Given the description of an element on the screen output the (x, y) to click on. 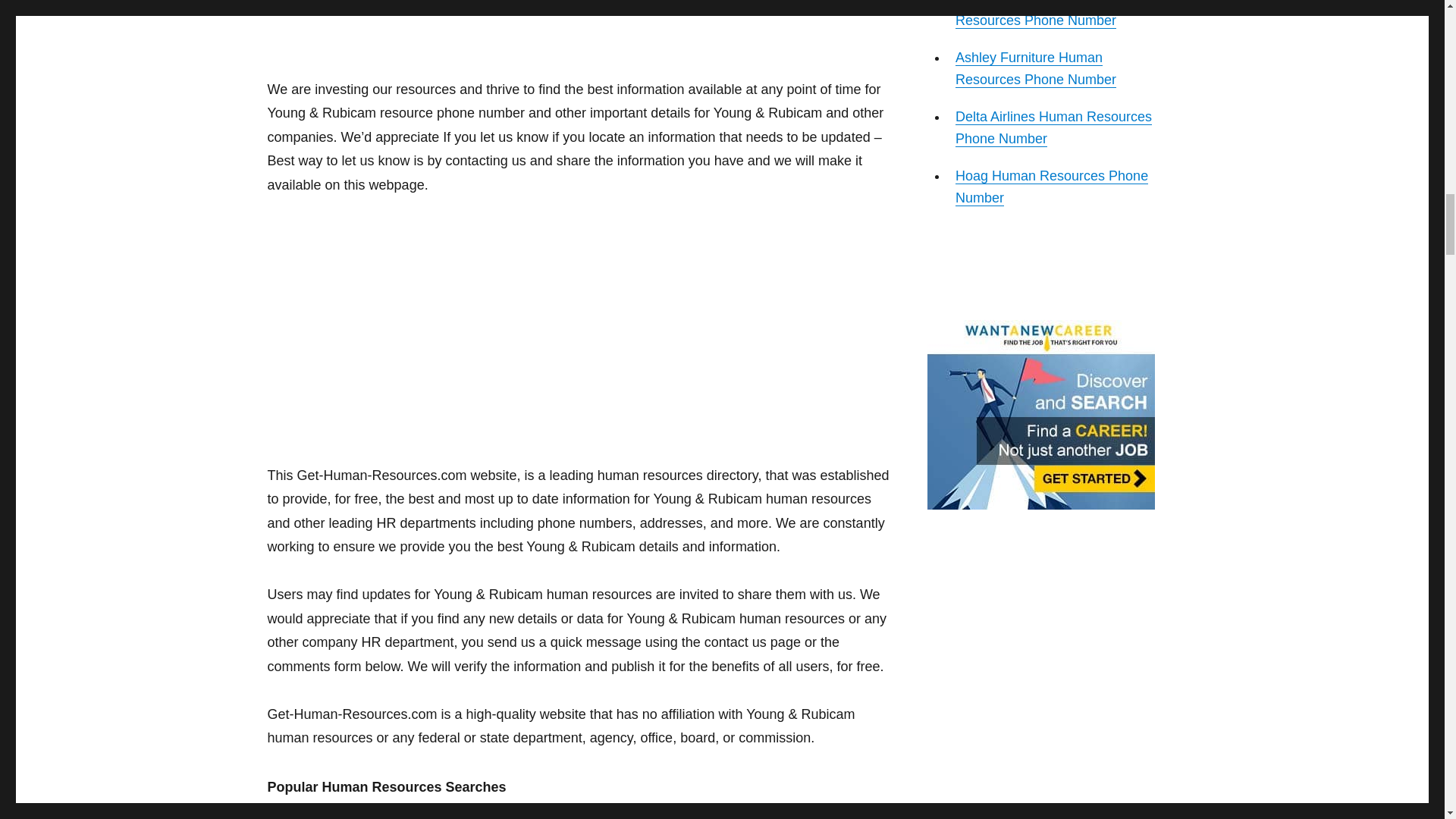
Youngstown State University Human Resources Phone Number (459, 812)
